Given the description of an element on the screen output the (x, y) to click on. 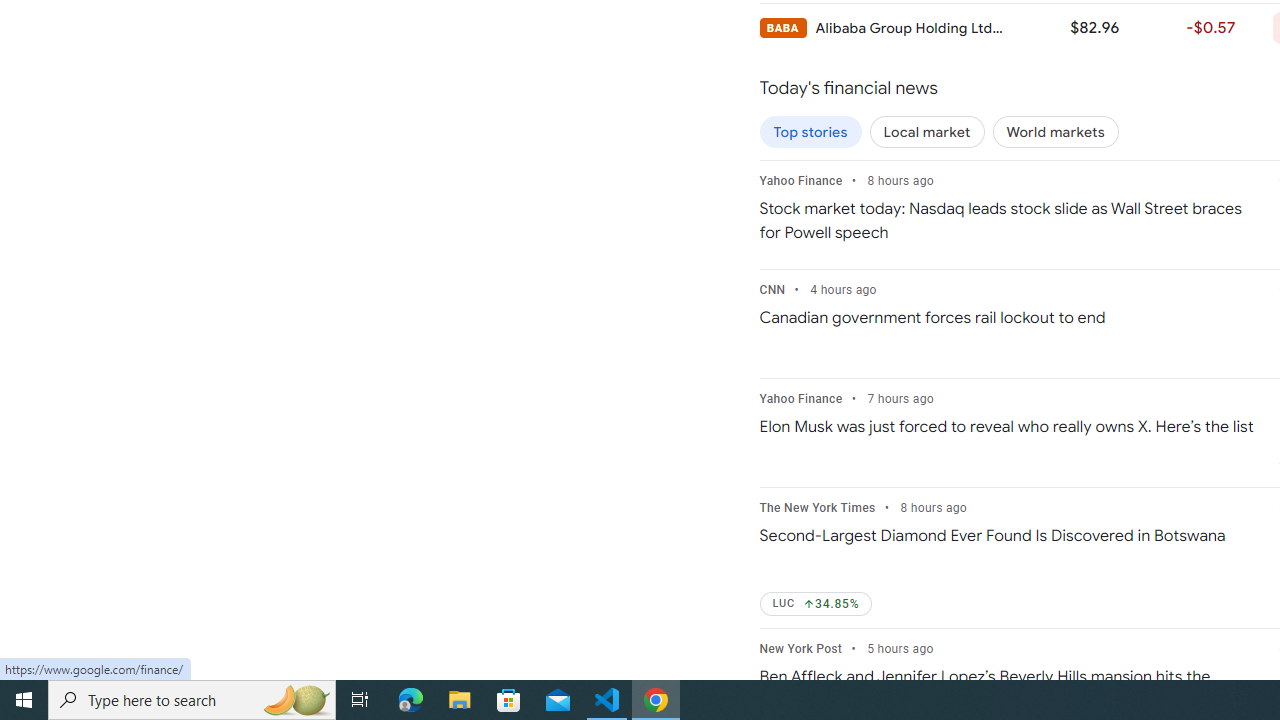
World markets (1055, 131)
LUC Up by 34.85% (815, 603)
Top stories (810, 131)
Local market (927, 131)
